Given the description of an element on the screen output the (x, y) to click on. 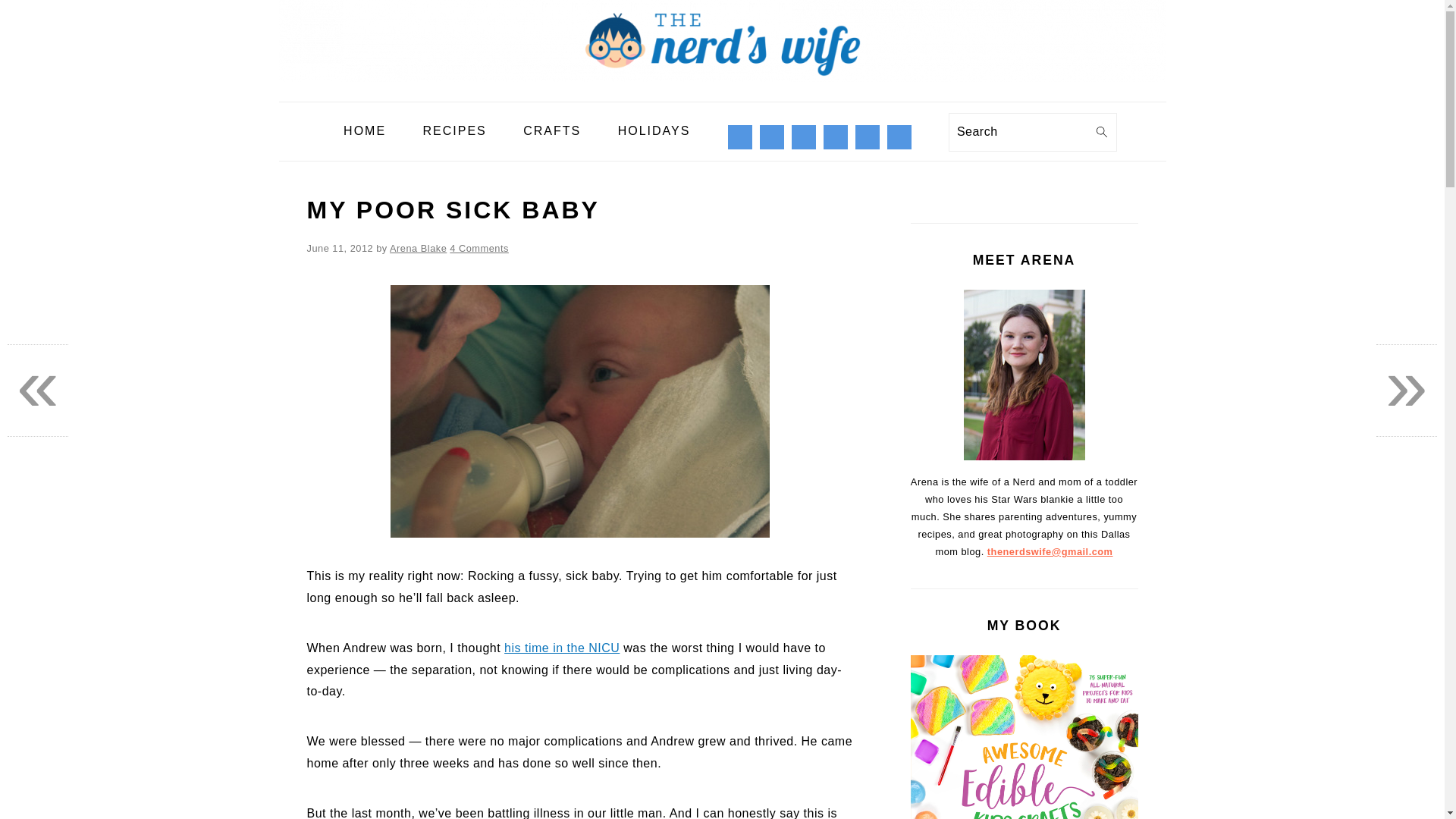
HOLIDAYS (654, 131)
The Nerd's Wife (722, 90)
his time in the NICU (561, 647)
4 Comments (478, 247)
HOME (364, 131)
Arena Blake (418, 247)
CRAFTS (551, 131)
RECIPES (454, 131)
The Nerd's Wife (722, 40)
